Given the description of an element on the screen output the (x, y) to click on. 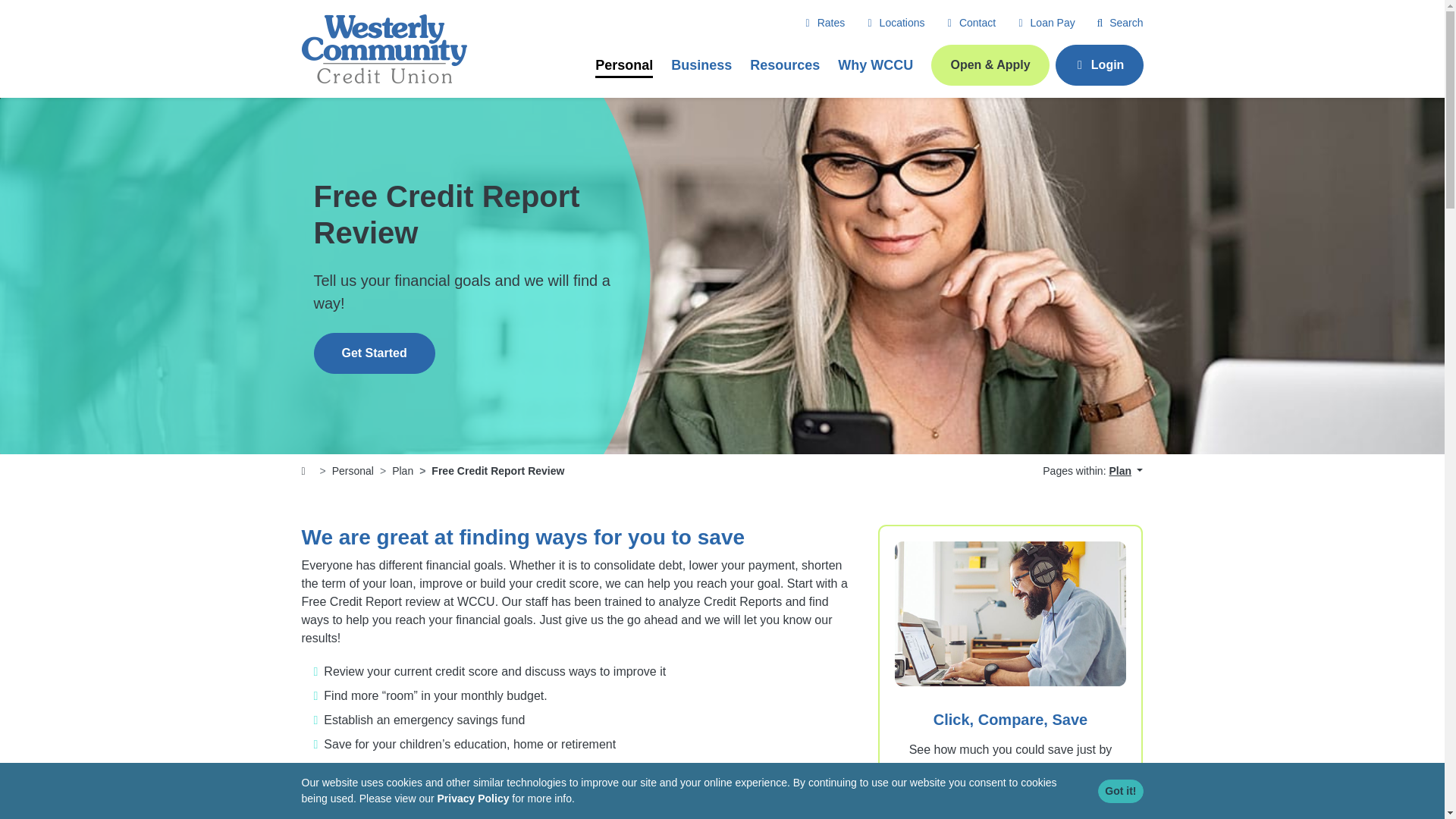
Got it! (1119, 791)
Privacy Policy (472, 798)
